Given the description of an element on the screen output the (x, y) to click on. 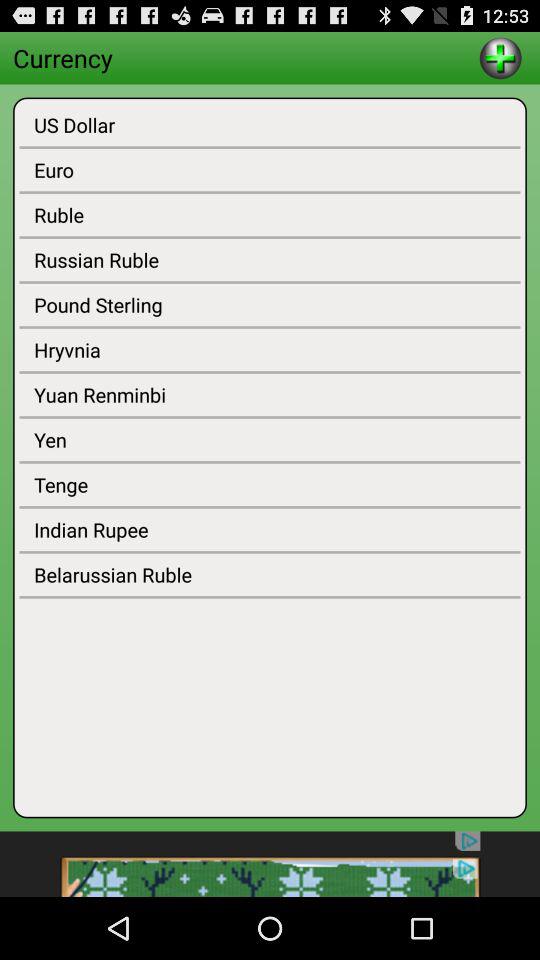
add icon (500, 57)
